Given the description of an element on the screen output the (x, y) to click on. 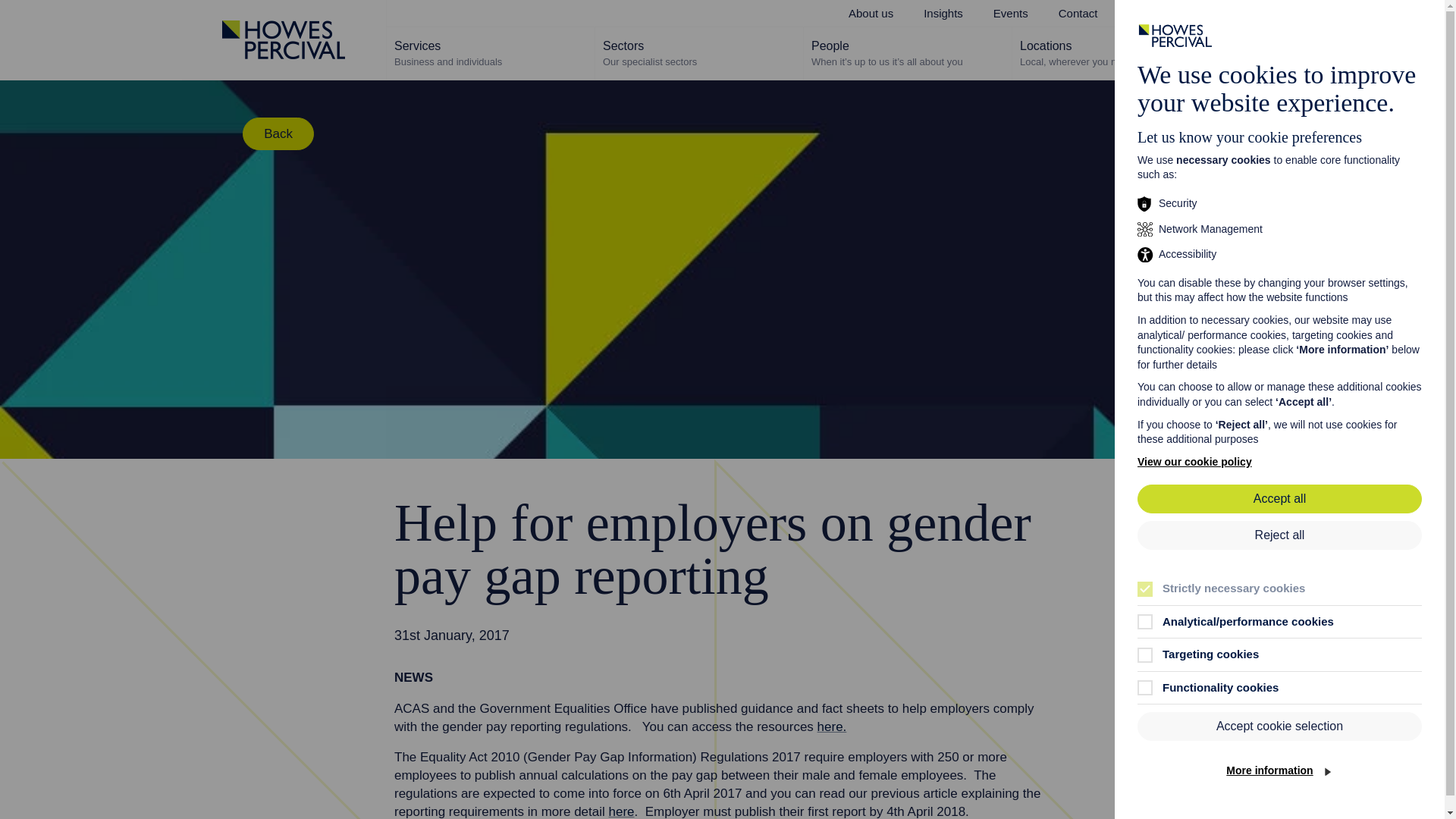
People (907, 52)
Client Login (1228, 13)
Contact (1078, 13)
Events (699, 52)
About us (1010, 13)
Client Login (870, 13)
About us (1228, 13)
Careers (870, 13)
Insights (491, 52)
Events (1147, 13)
Contact (943, 13)
Insights (1116, 52)
